Given the description of an element on the screen output the (x, y) to click on. 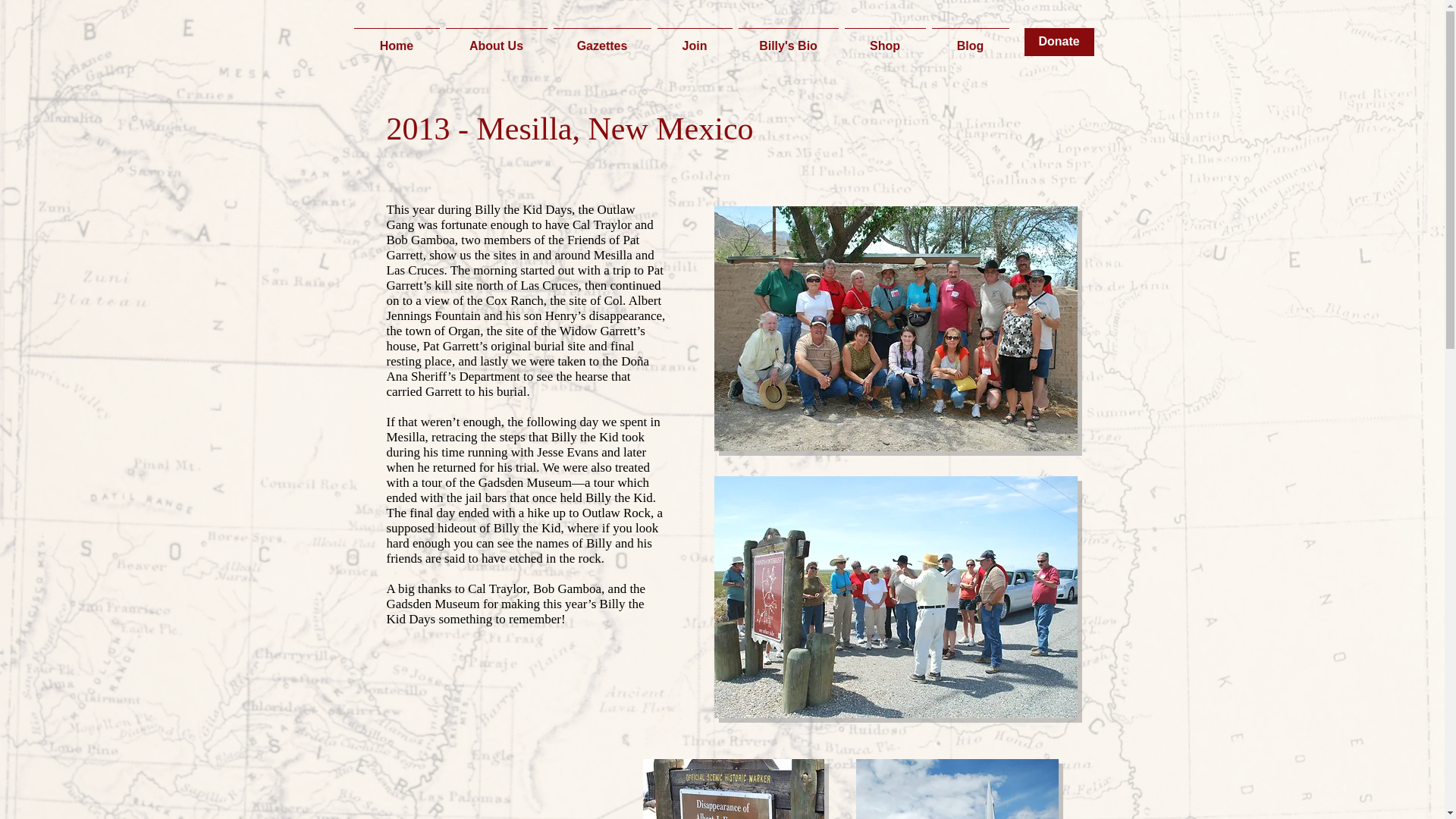
Blog (969, 38)
Home (396, 38)
About Us (496, 38)
Donate (1058, 41)
Gazettes (601, 38)
Shop (884, 38)
Billy's Bio (788, 38)
Join (694, 38)
